Given the description of an element on the screen output the (x, y) to click on. 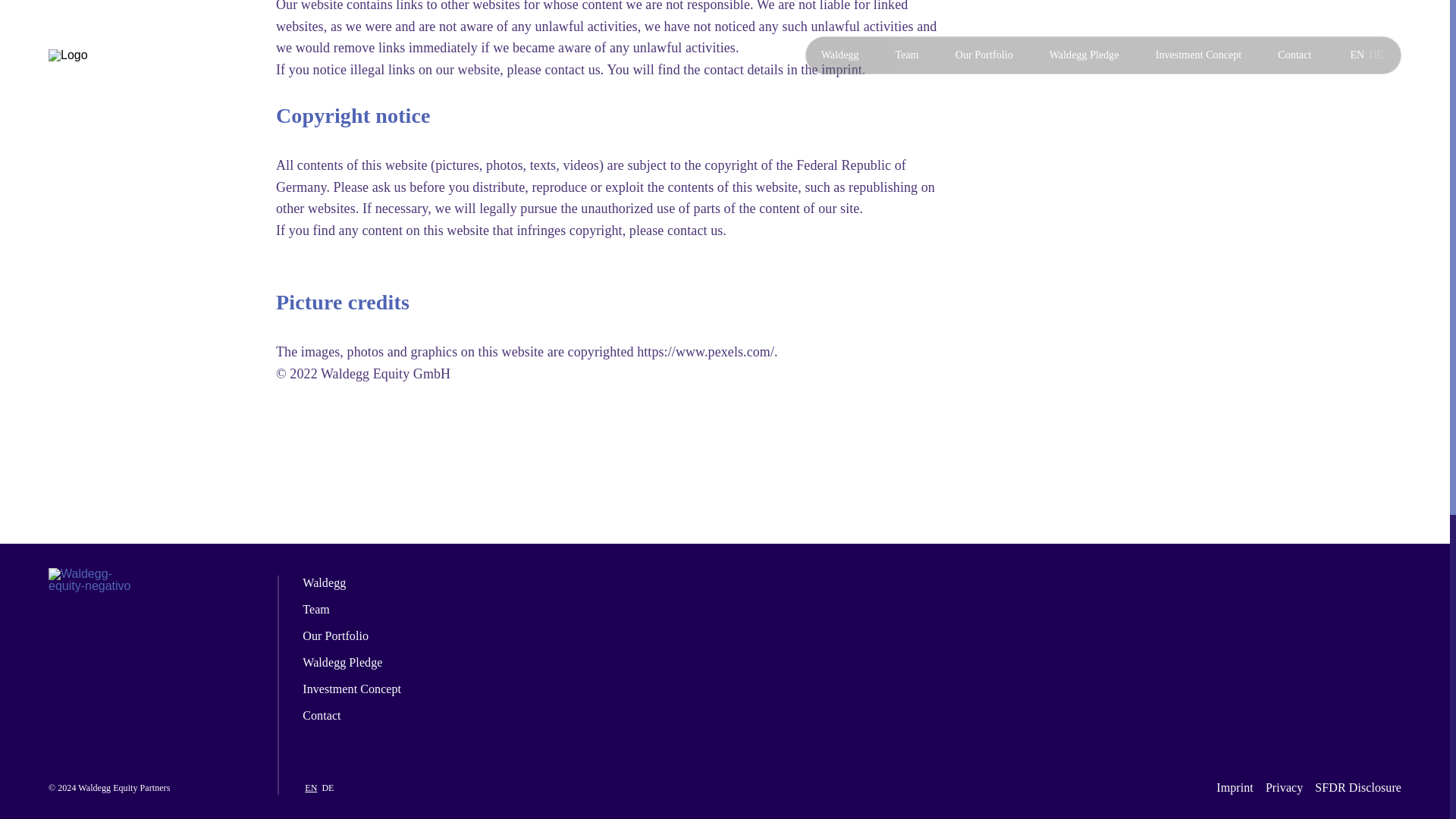
Contact (351, 711)
EN (310, 788)
Waldegg (351, 585)
SFDR Disclosure (1357, 787)
Waldegg Pledge (351, 662)
Team (351, 609)
Investment Concept (351, 688)
Privacy (1283, 787)
DE (327, 788)
Our Portfolio (351, 635)
Imprint (1234, 787)
